Given the description of an element on the screen output the (x, y) to click on. 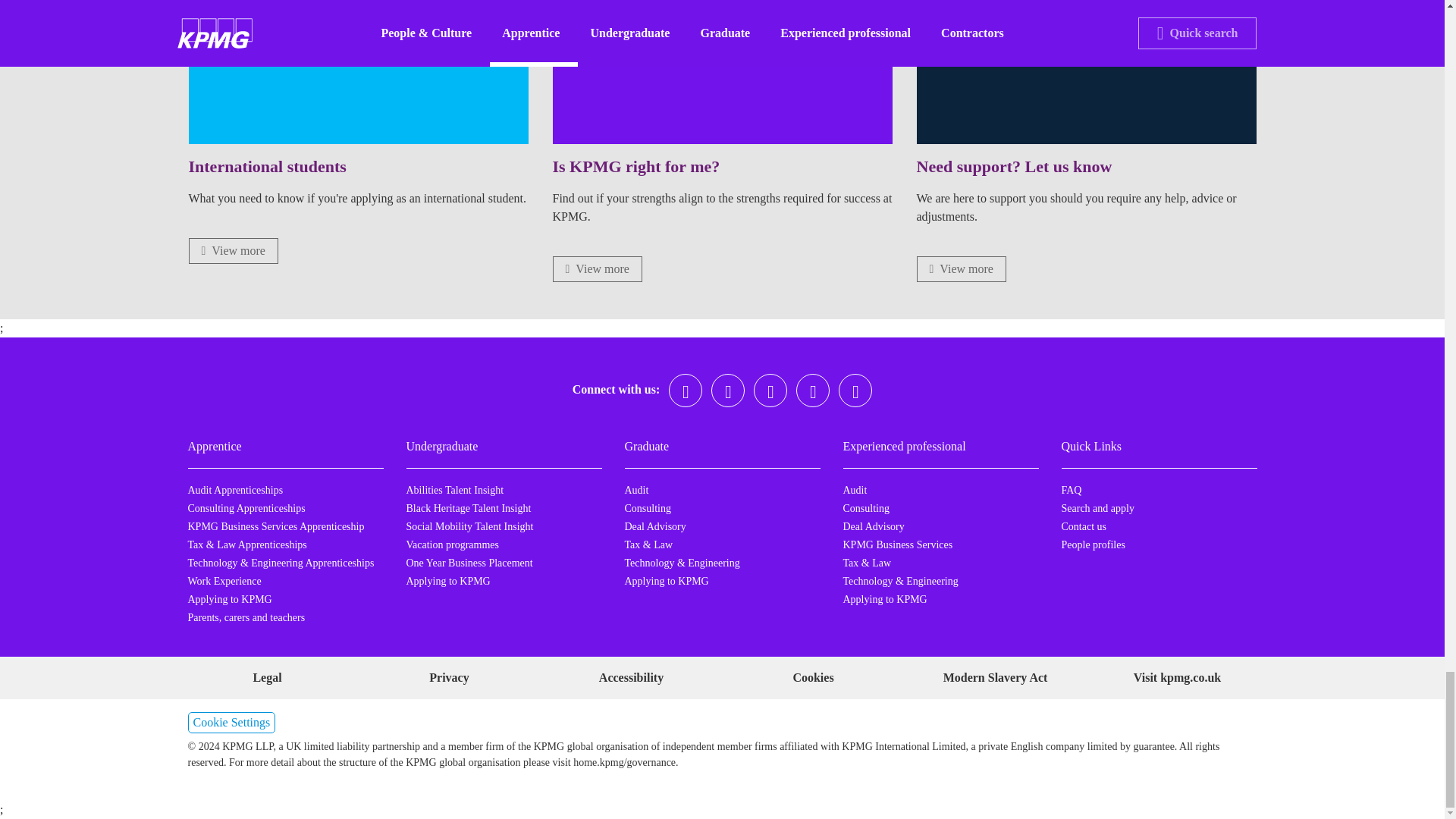
Read more (232, 250)
Find out how we can support you (960, 268)
Read more (596, 268)
